Given the description of an element on the screen output the (x, y) to click on. 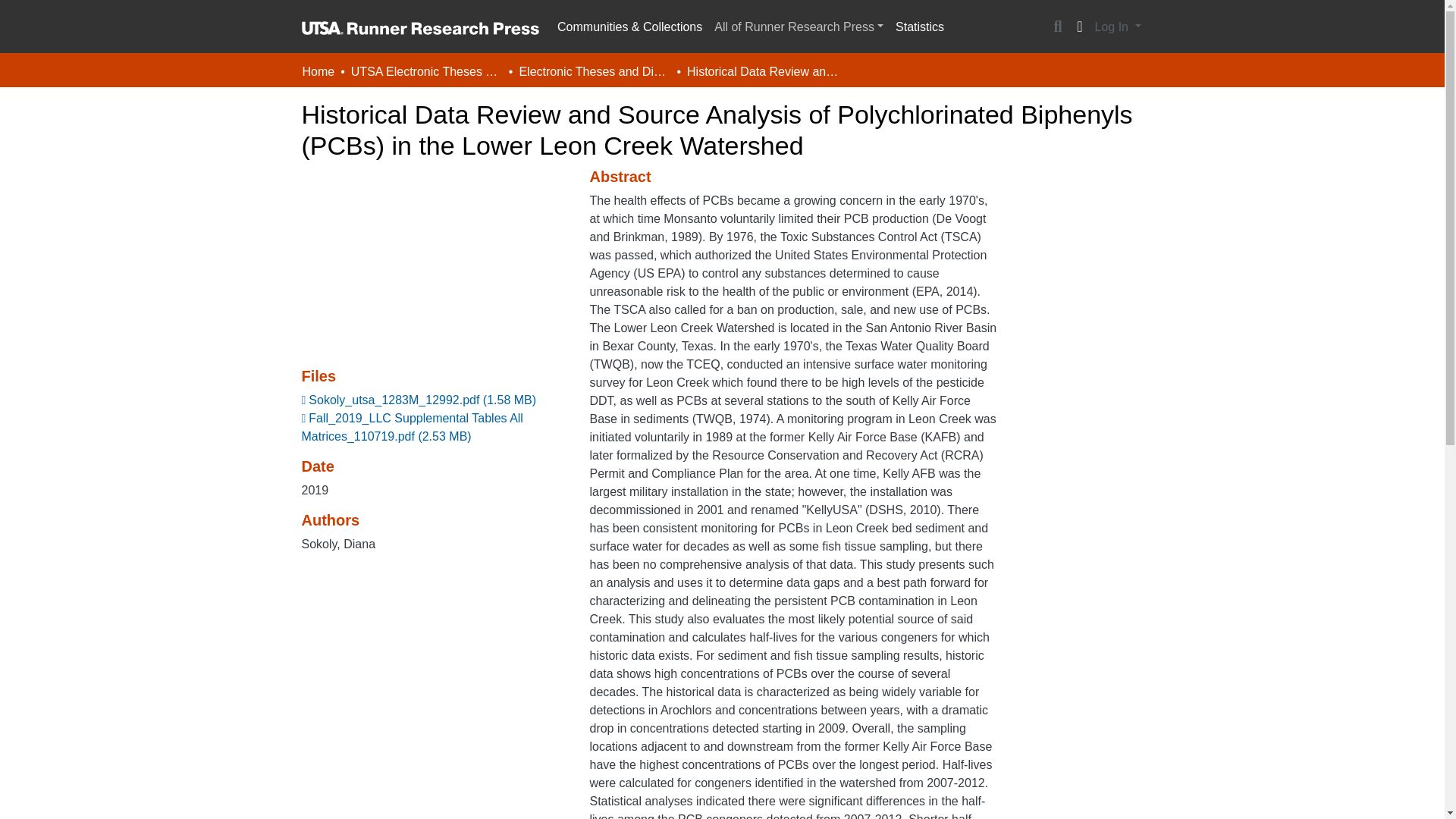
Search (1057, 27)
All of Runner Research Press (798, 27)
Electronic Theses and Dissertations - UTSA Access Only (593, 72)
Home (317, 72)
Statistics (919, 27)
Language switch (1079, 27)
Log In (1117, 26)
UTSA Electronic Theses and Dissertations (426, 72)
Statistics (919, 27)
